Given the description of an element on the screen output the (x, y) to click on. 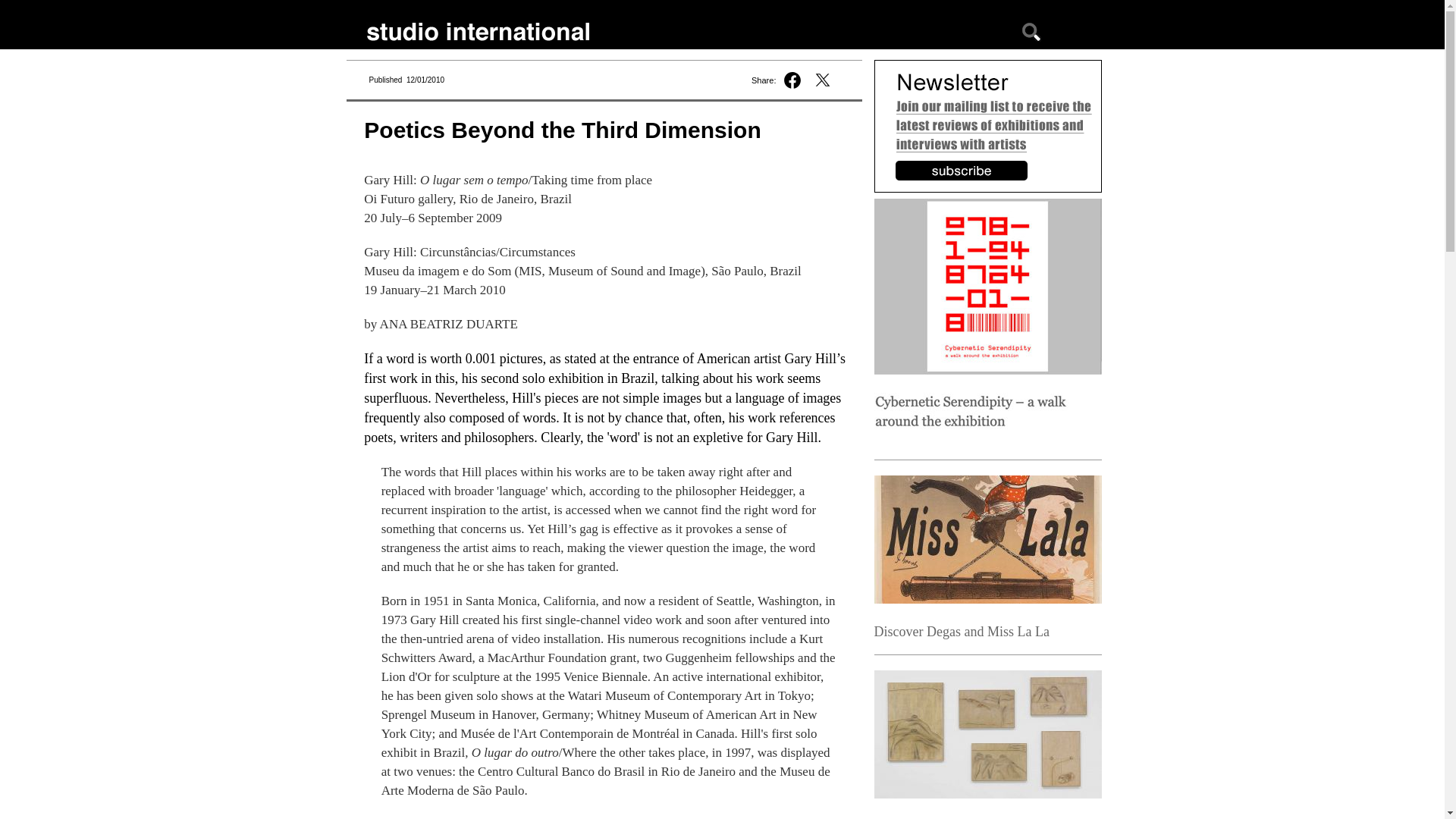
Discover Degas and Miss La La (960, 631)
